Given the description of an element on the screen output the (x, y) to click on. 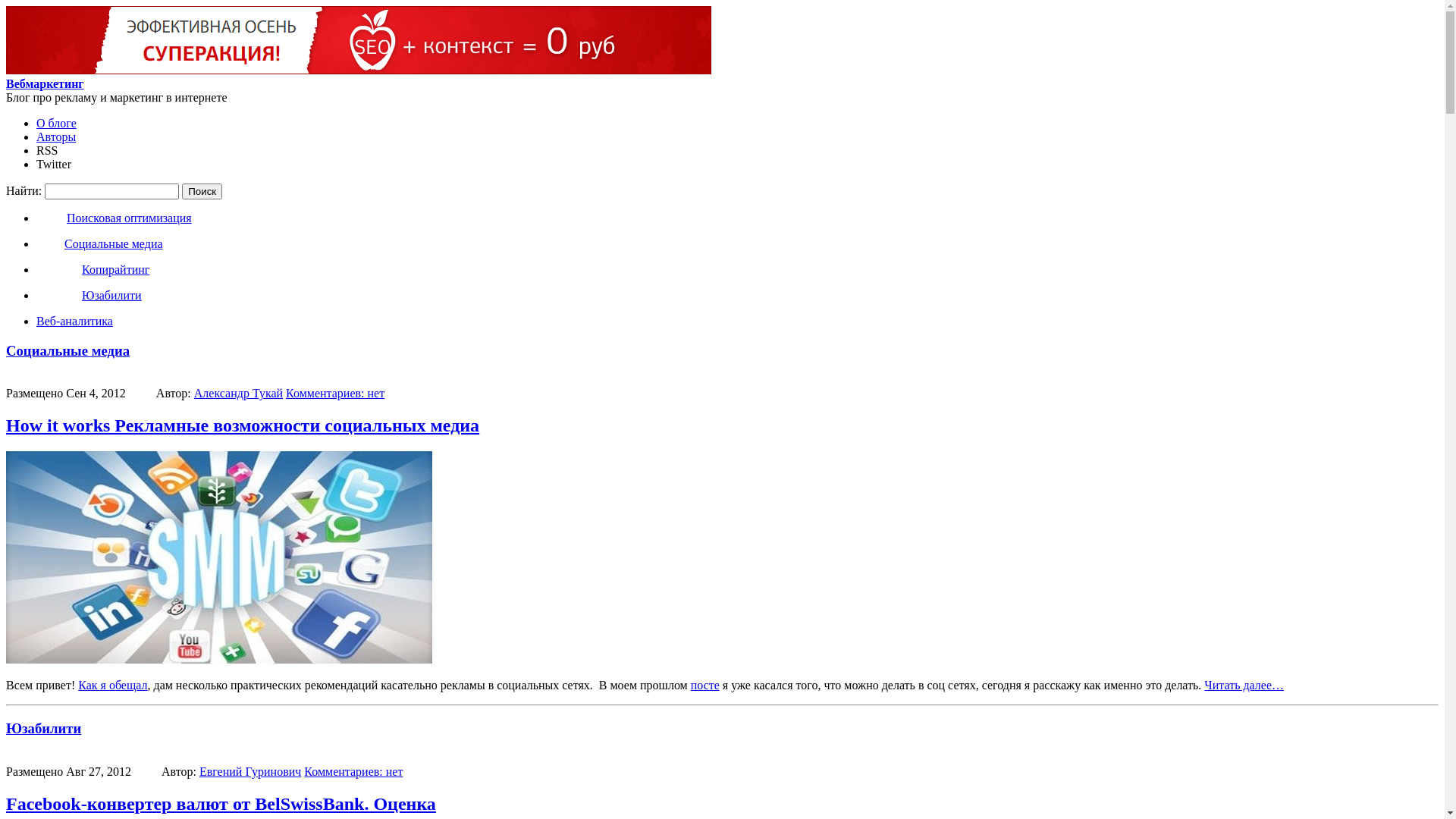
562x280-social-media-marketing-2 Element type: hover (219, 557)
